Given the description of an element on the screen output the (x, y) to click on. 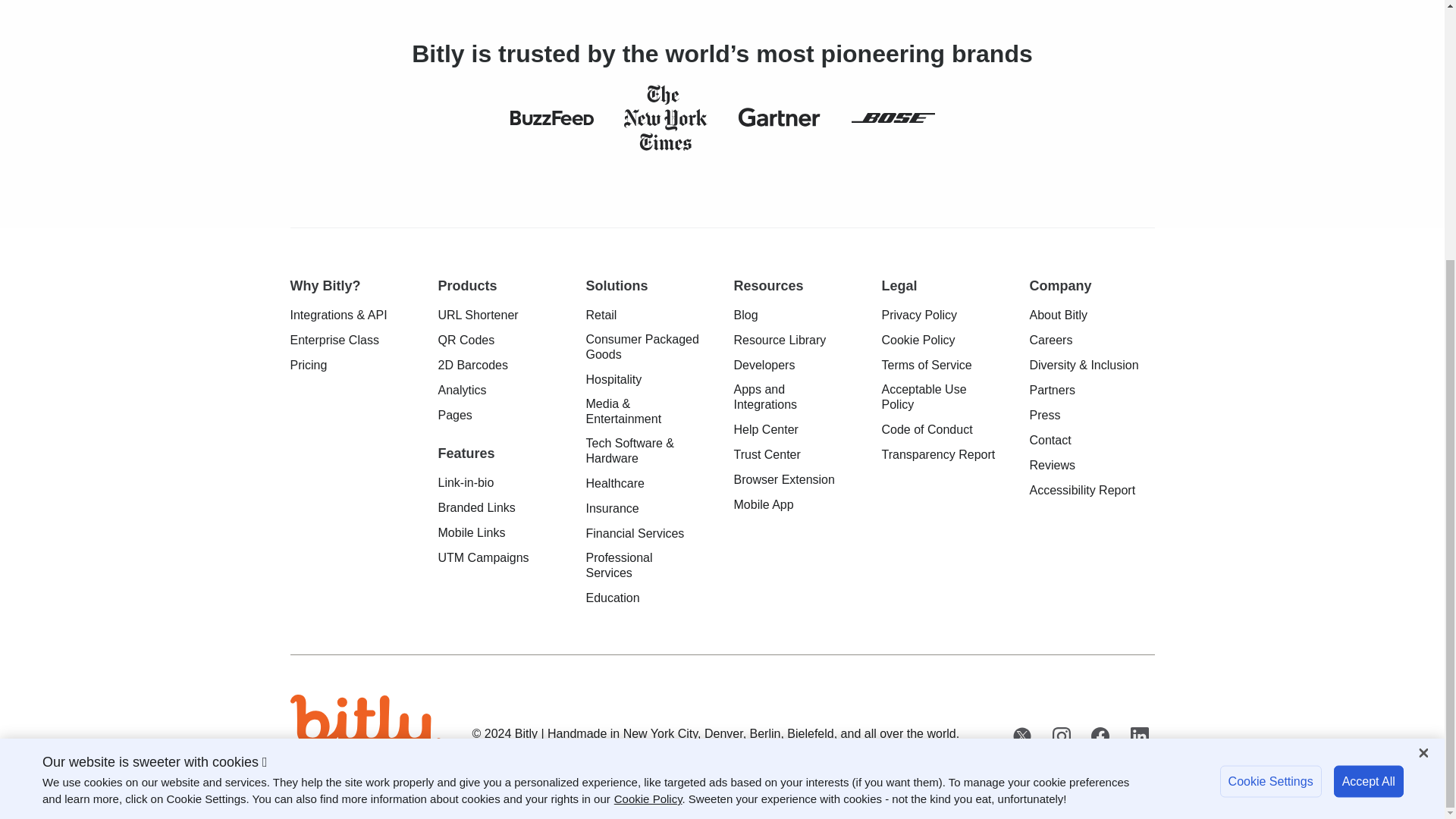
Pricing (307, 365)
Enterprise Class (333, 340)
